Given the description of an element on the screen output the (x, y) to click on. 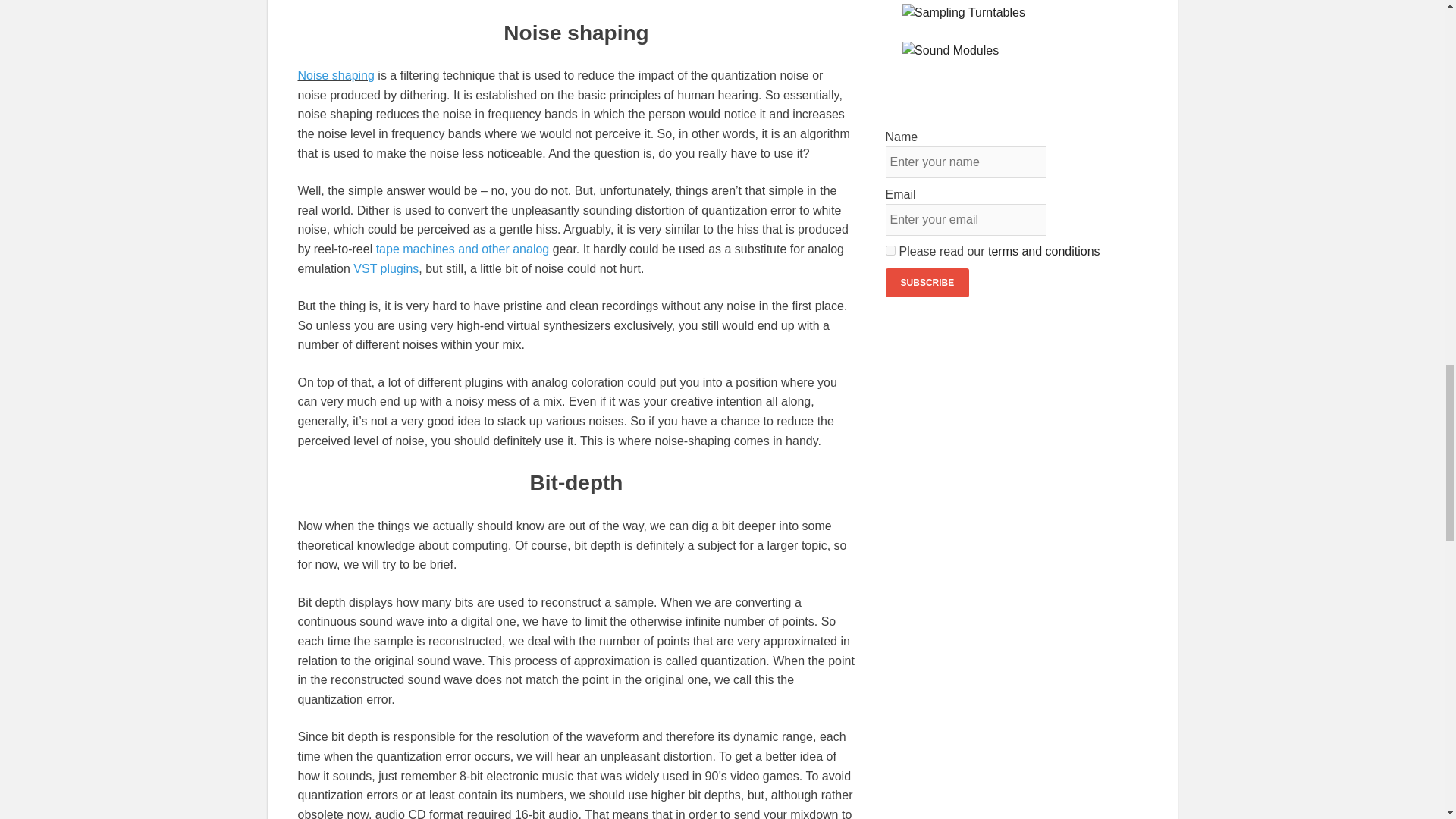
VST plugins (386, 268)
tape machines and other analog (462, 248)
true (890, 250)
Noise shaping (335, 74)
Subscribe (927, 282)
